Given the description of an element on the screen output the (x, y) to click on. 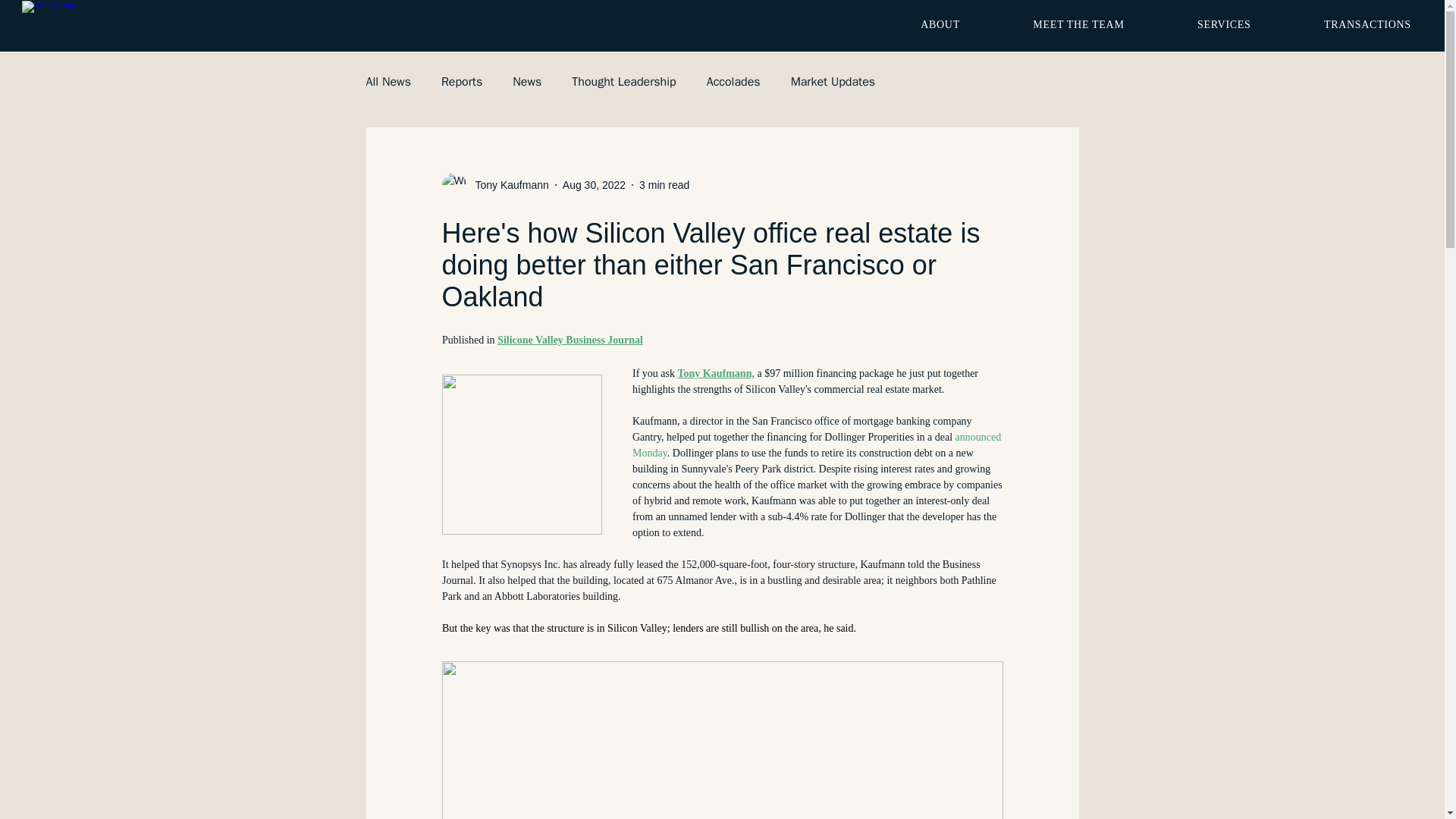
3 min read (663, 184)
Aug 30, 2022 (594, 184)
Tony Kaufmann (506, 185)
MEET THE TEAM (1077, 24)
